Given the description of an element on the screen output the (x, y) to click on. 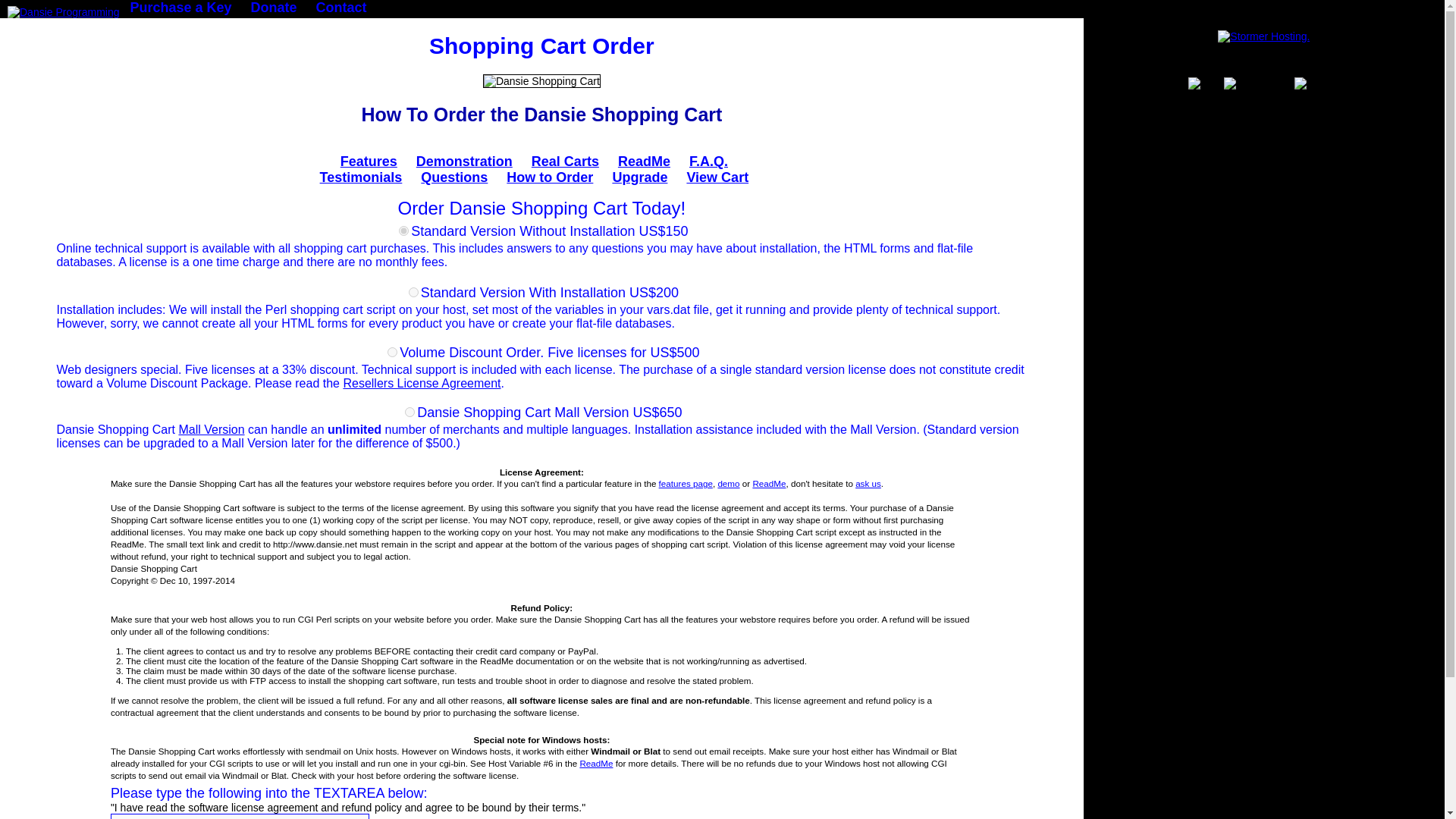
Standard Version (403, 230)
ReadMe (595, 763)
Visa (1204, 82)
Stormer Hosting. (1262, 36)
Testimonials (361, 177)
Resellers License Agreement (421, 382)
features page (686, 483)
Donate (273, 7)
Real Carts (564, 160)
Contact (340, 7)
PayPal (1316, 82)
F.A.Q. (708, 160)
View Cart (716, 177)
Purchase a Key (180, 7)
Upgrade (638, 177)
